Given the description of an element on the screen output the (x, y) to click on. 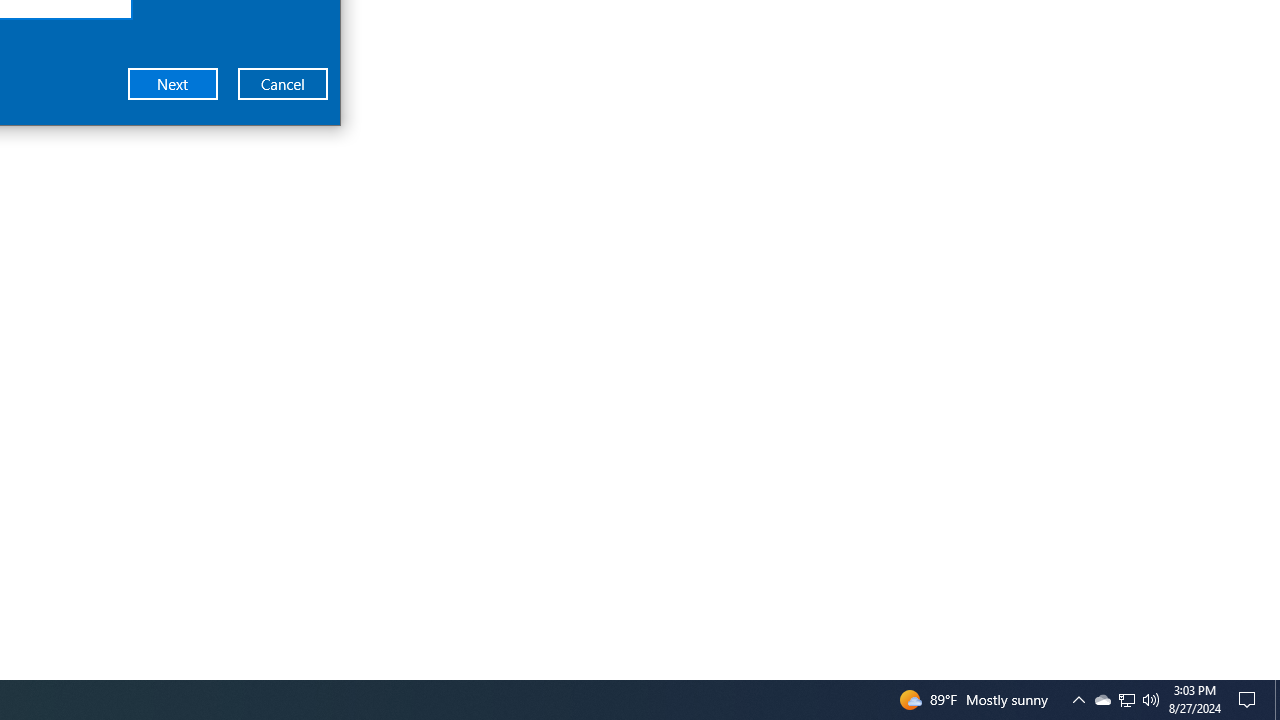
Next (173, 83)
Cancel (283, 83)
